Given the description of an element on the screen output the (x, y) to click on. 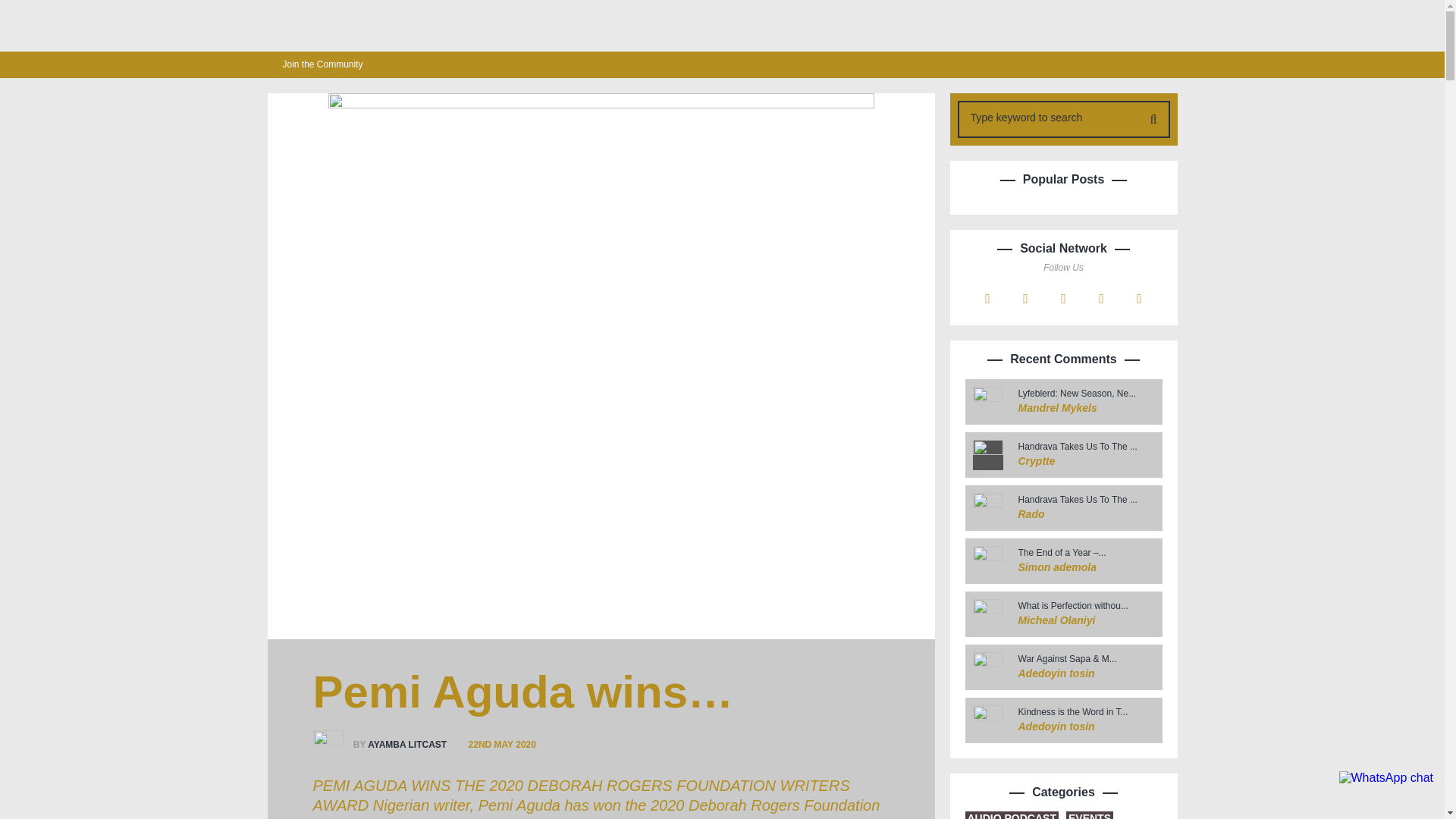
Type keyword to search (1049, 117)
Type keyword to search (1049, 117)
